Given the description of an element on the screen output the (x, y) to click on. 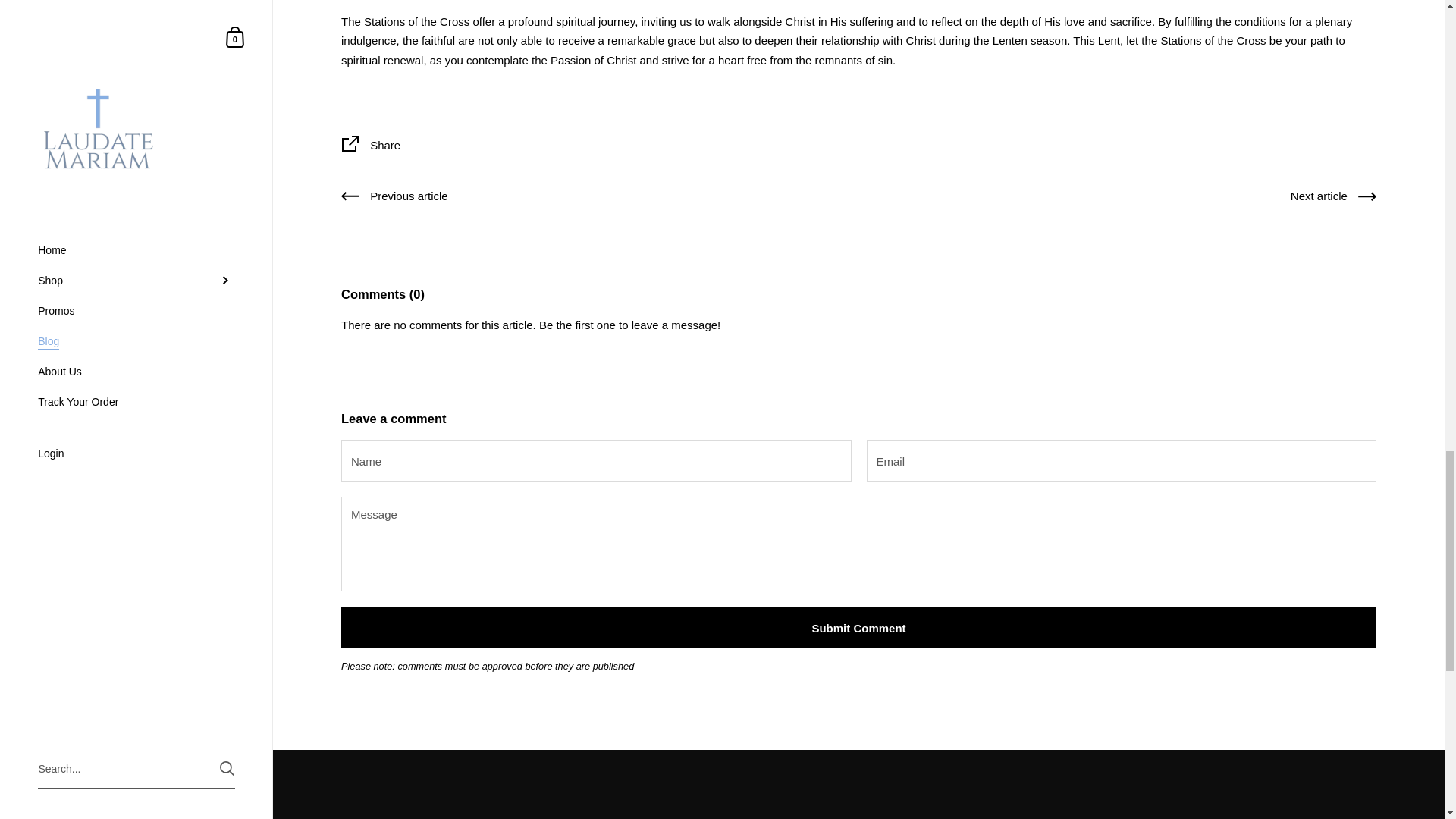
Next article (1332, 199)
Previous article (394, 199)
Submit Comment (857, 627)
Share (857, 146)
Submit Comment (857, 627)
Previous article (394, 199)
Next article (1332, 199)
